Given the description of an element on the screen output the (x, y) to click on. 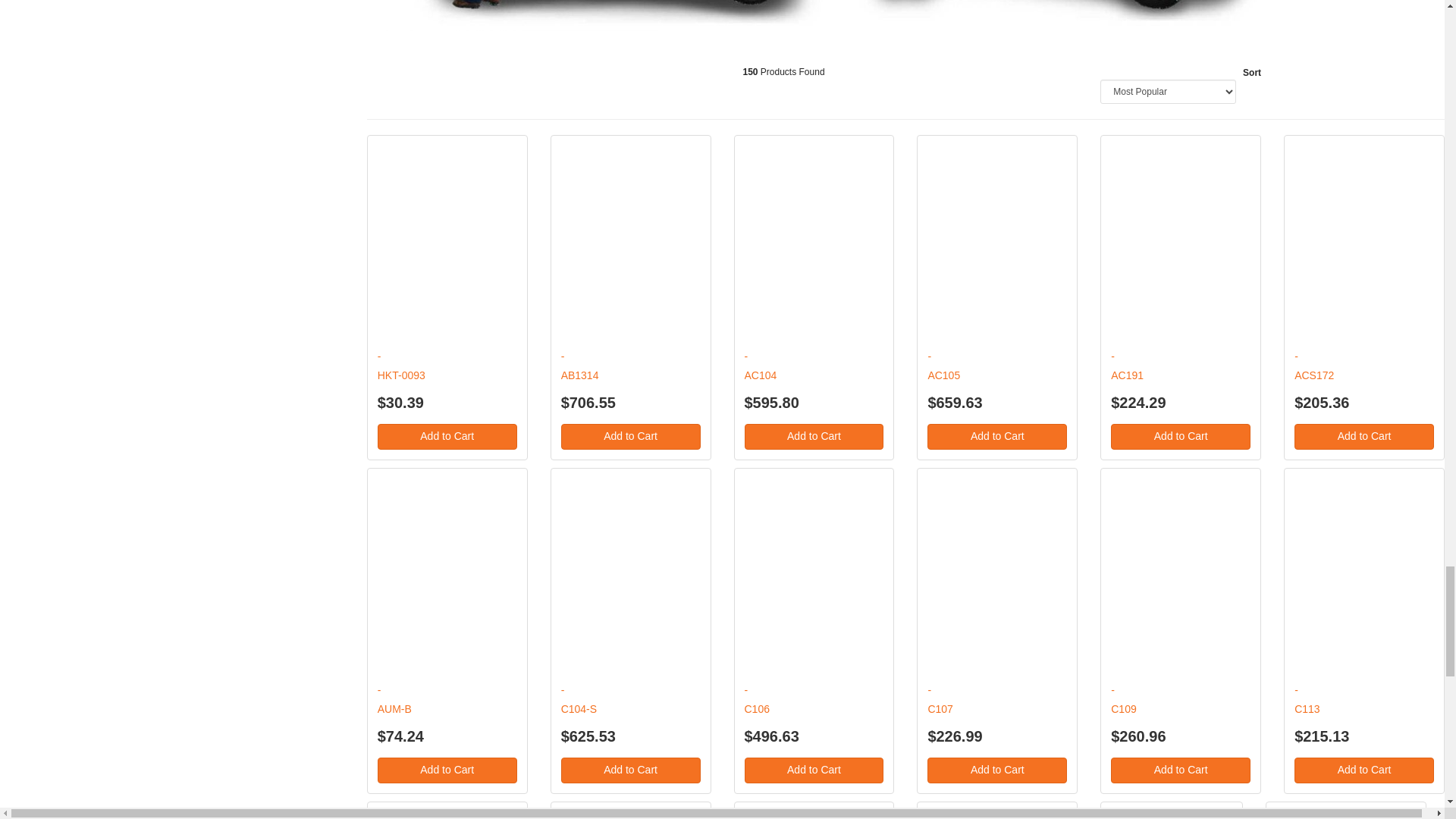
Add  to Cart (630, 769)
Add  to Cart (1180, 436)
Add  to Cart (446, 436)
Add  to Cart (997, 769)
Add  to Cart (1364, 769)
Add  to Cart (813, 436)
Add  to Cart (446, 769)
Add  to Cart (630, 436)
Add  to Cart (1180, 769)
Add  to Cart (813, 769)
Add  to Cart (997, 436)
Add  to Cart (1364, 436)
